Given the description of an element on the screen output the (x, y) to click on. 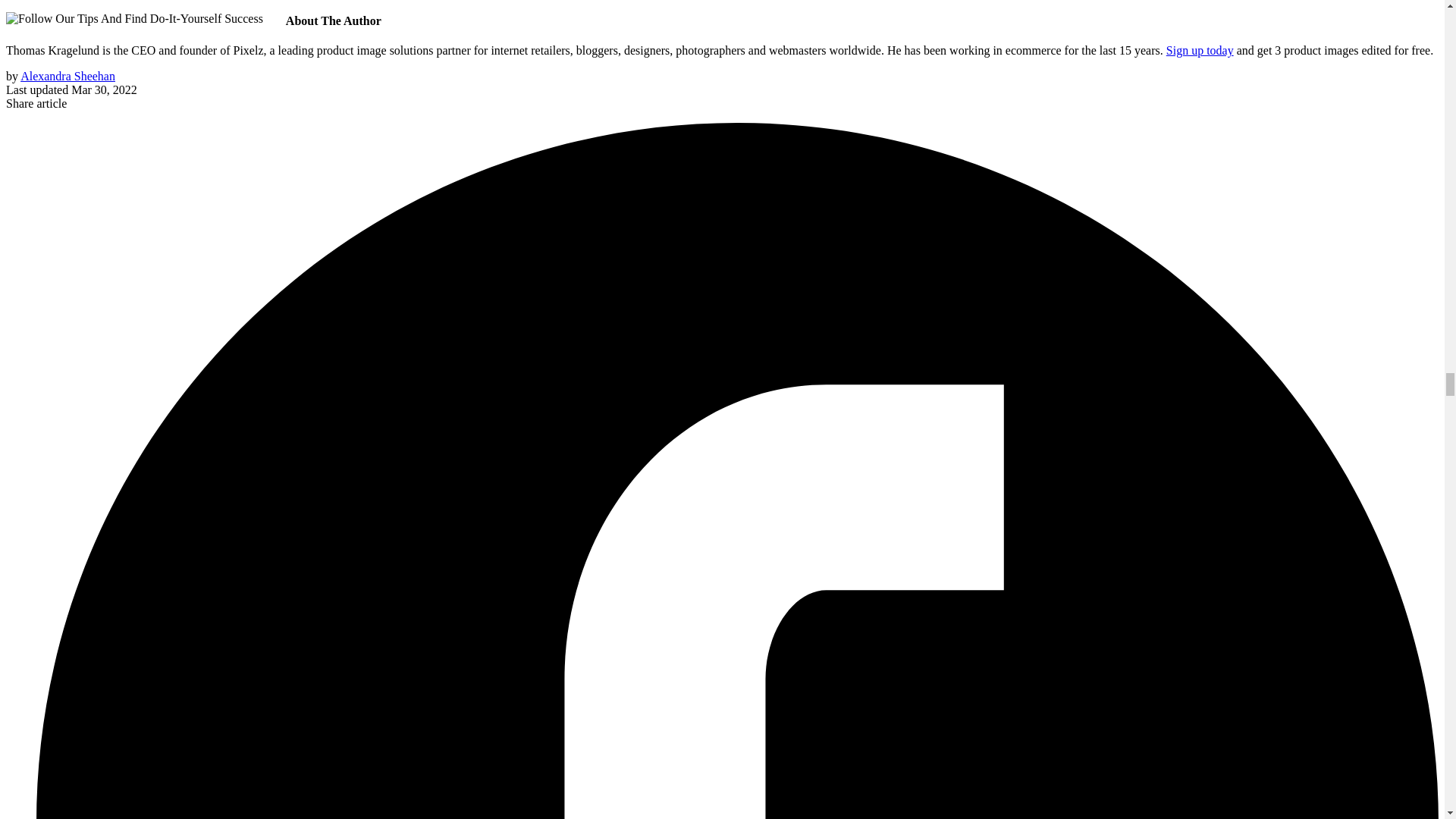
Follow Our Tips And Find Do-It-Yourself Success (134, 18)
